Given the description of an element on the screen output the (x, y) to click on. 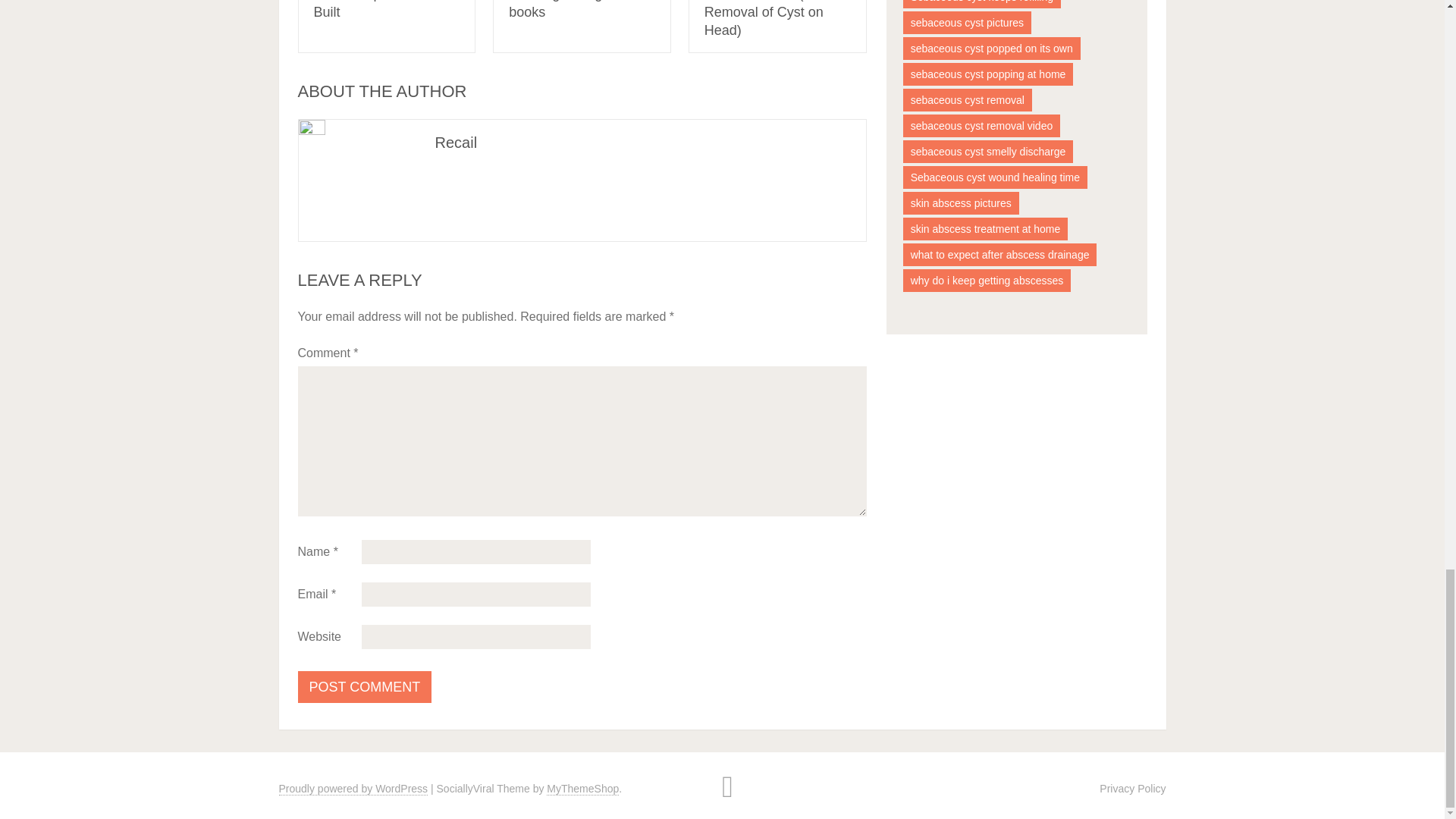
Post Comment (363, 686)
